Given the description of an element on the screen output the (x, y) to click on. 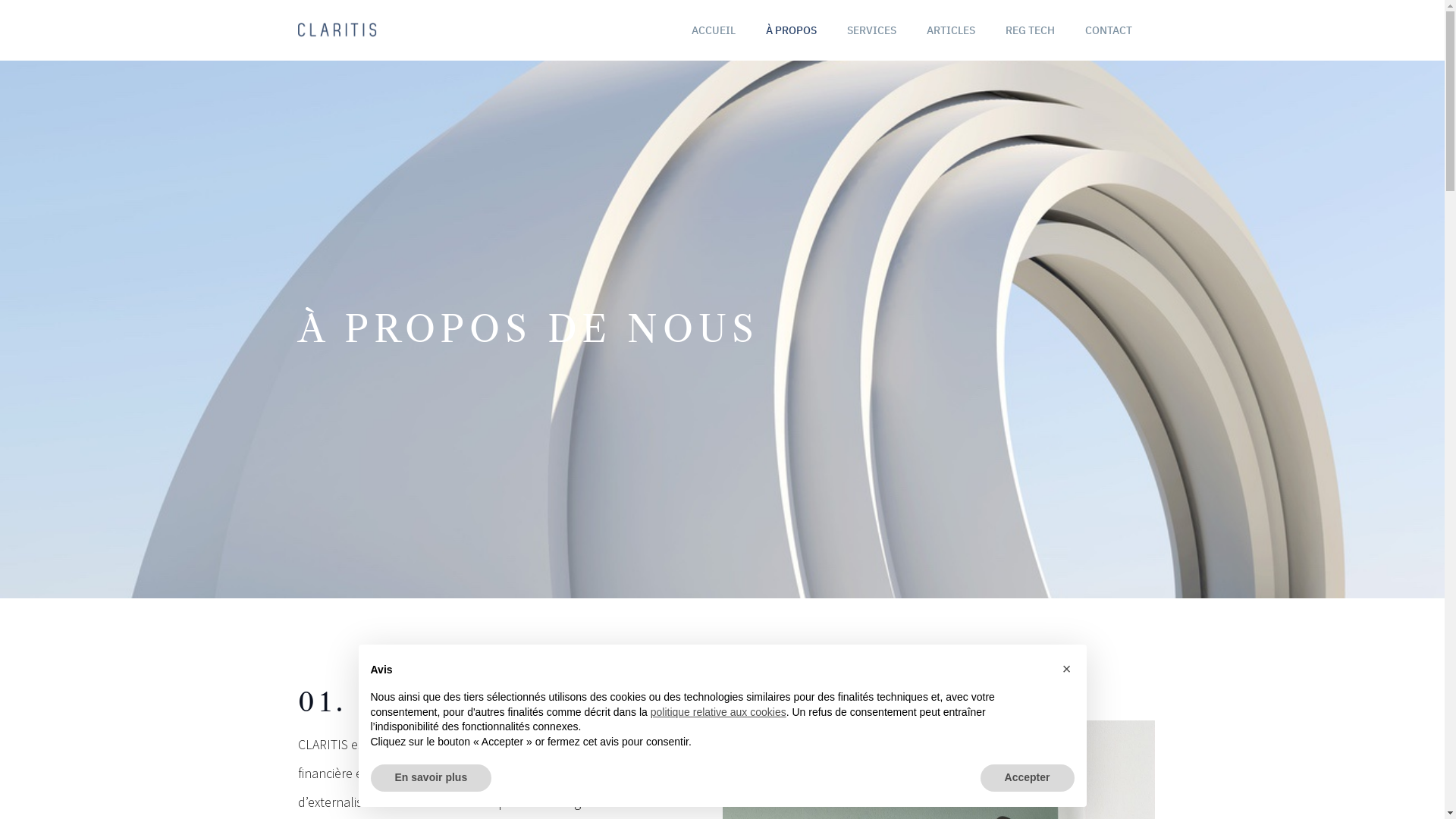
REG TECH Element type: text (1030, 29)
politique relative aux cookies Element type: text (718, 712)
En savoir plus Element type: text (430, 777)
ACCUEIL Element type: text (713, 29)
ARTICLES Element type: text (950, 29)
Accepter Element type: text (1027, 777)
SERVICES Element type: text (870, 29)
CONTACT Element type: text (1107, 29)
